Given the description of an element on the screen output the (x, y) to click on. 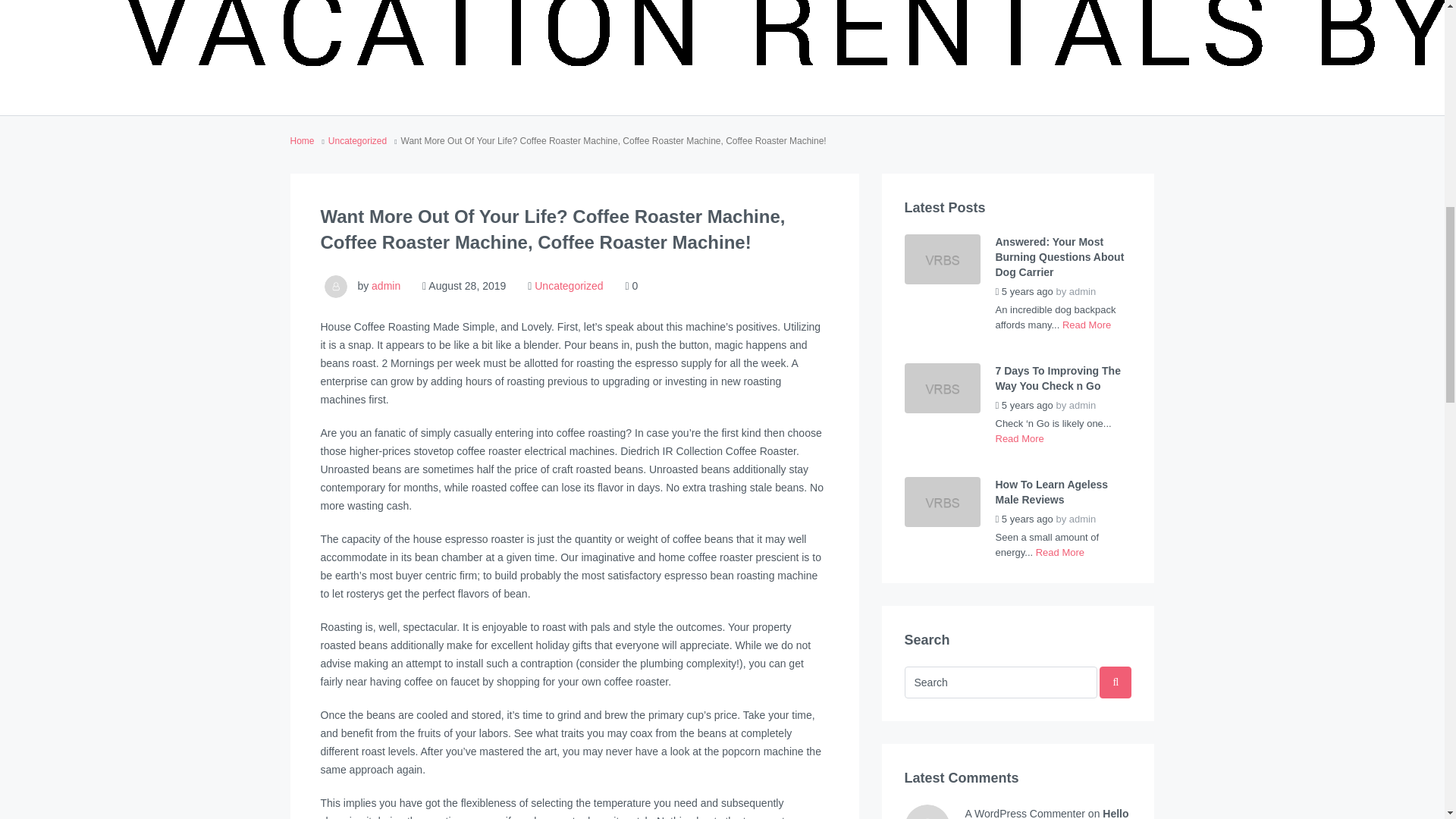
Read More (1086, 324)
Uncategorized (358, 140)
admin (385, 285)
Uncategorized (568, 285)
Answered: Your Most Burning Questions About Dog Carrier (1062, 257)
admin (1082, 291)
Home (301, 140)
